Given the description of an element on the screen output the (x, y) to click on. 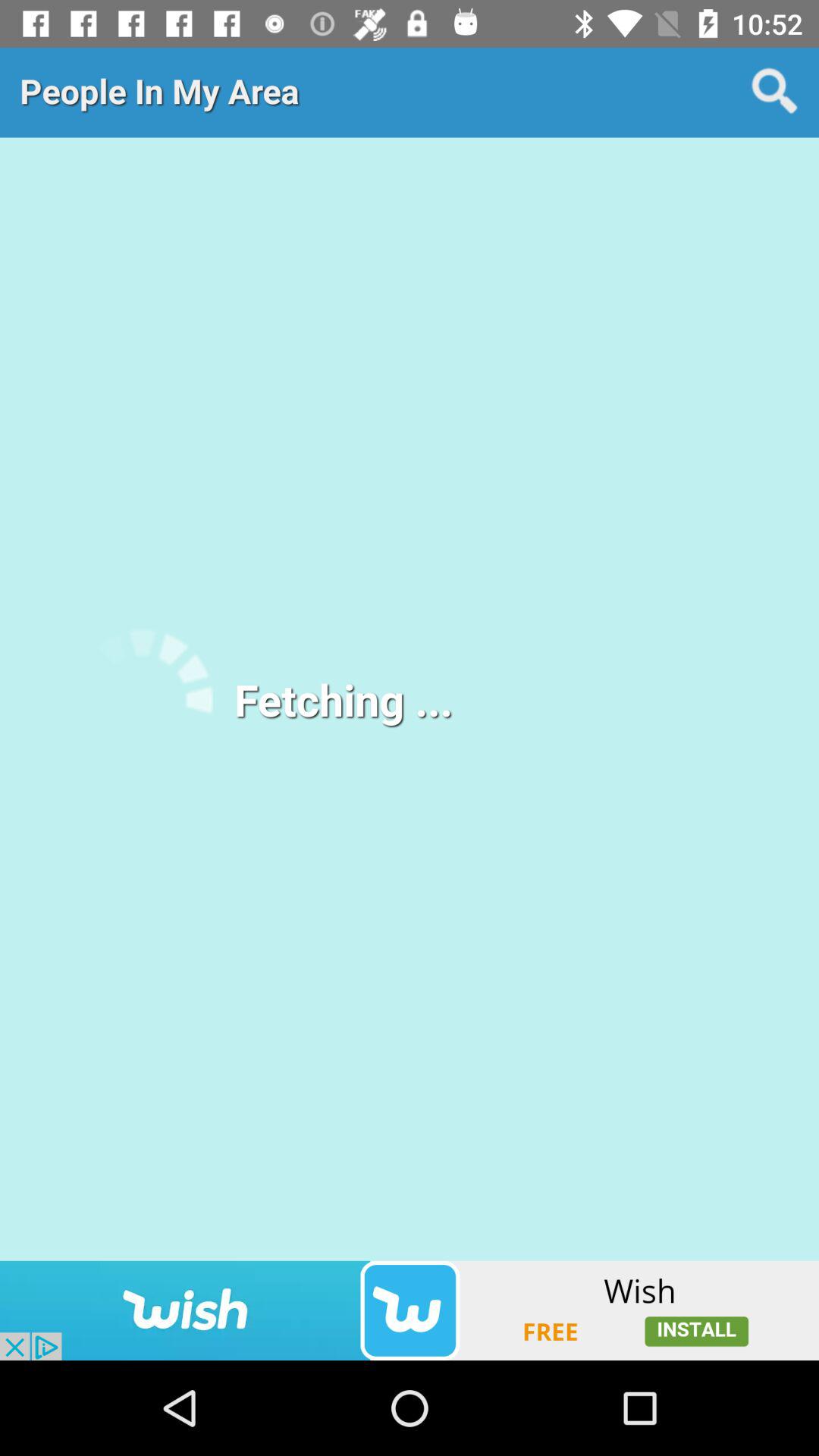
search button (774, 91)
